Given the description of an element on the screen output the (x, y) to click on. 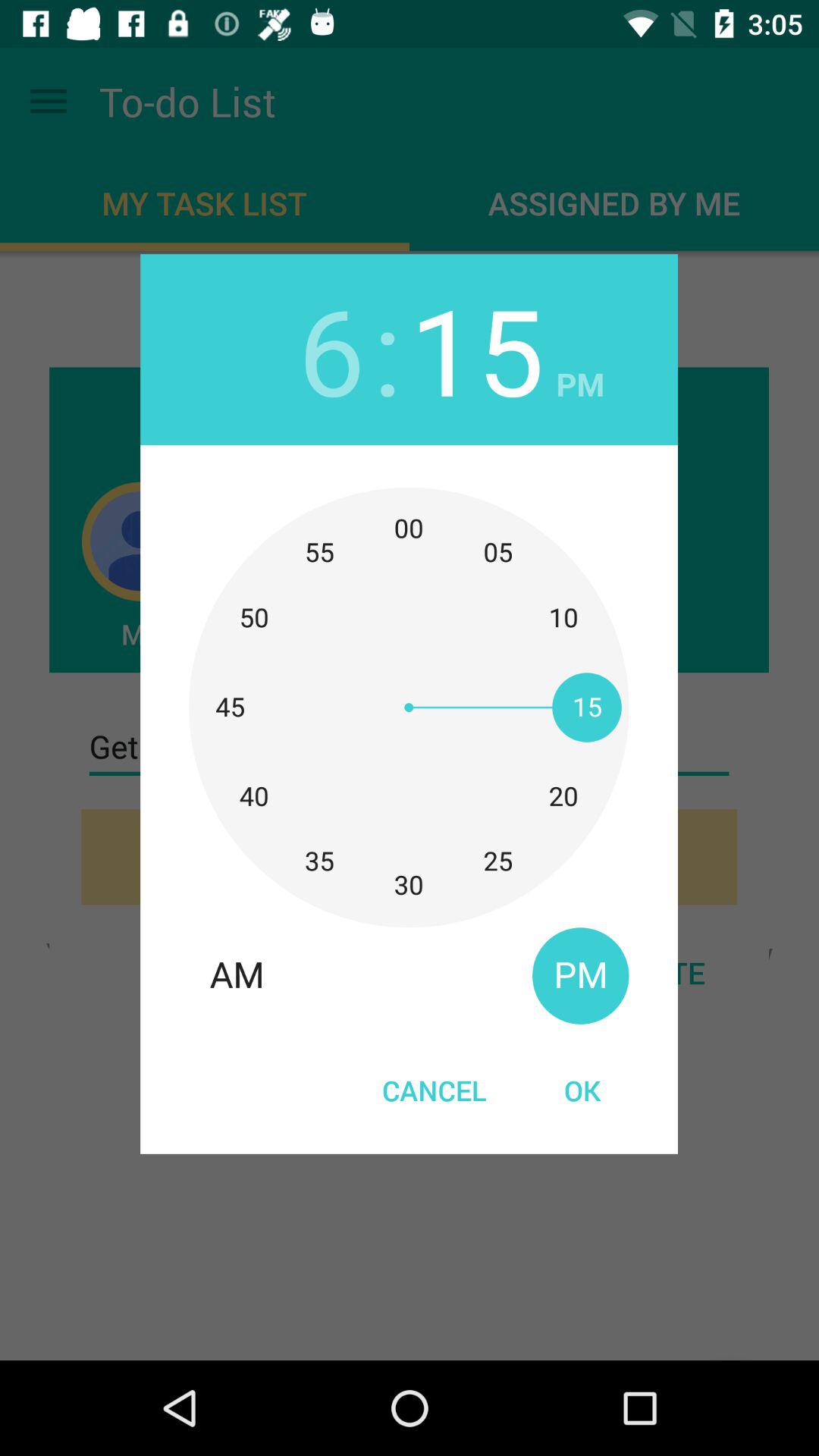
select item next to : icon (331, 349)
